Given the description of an element on the screen output the (x, y) to click on. 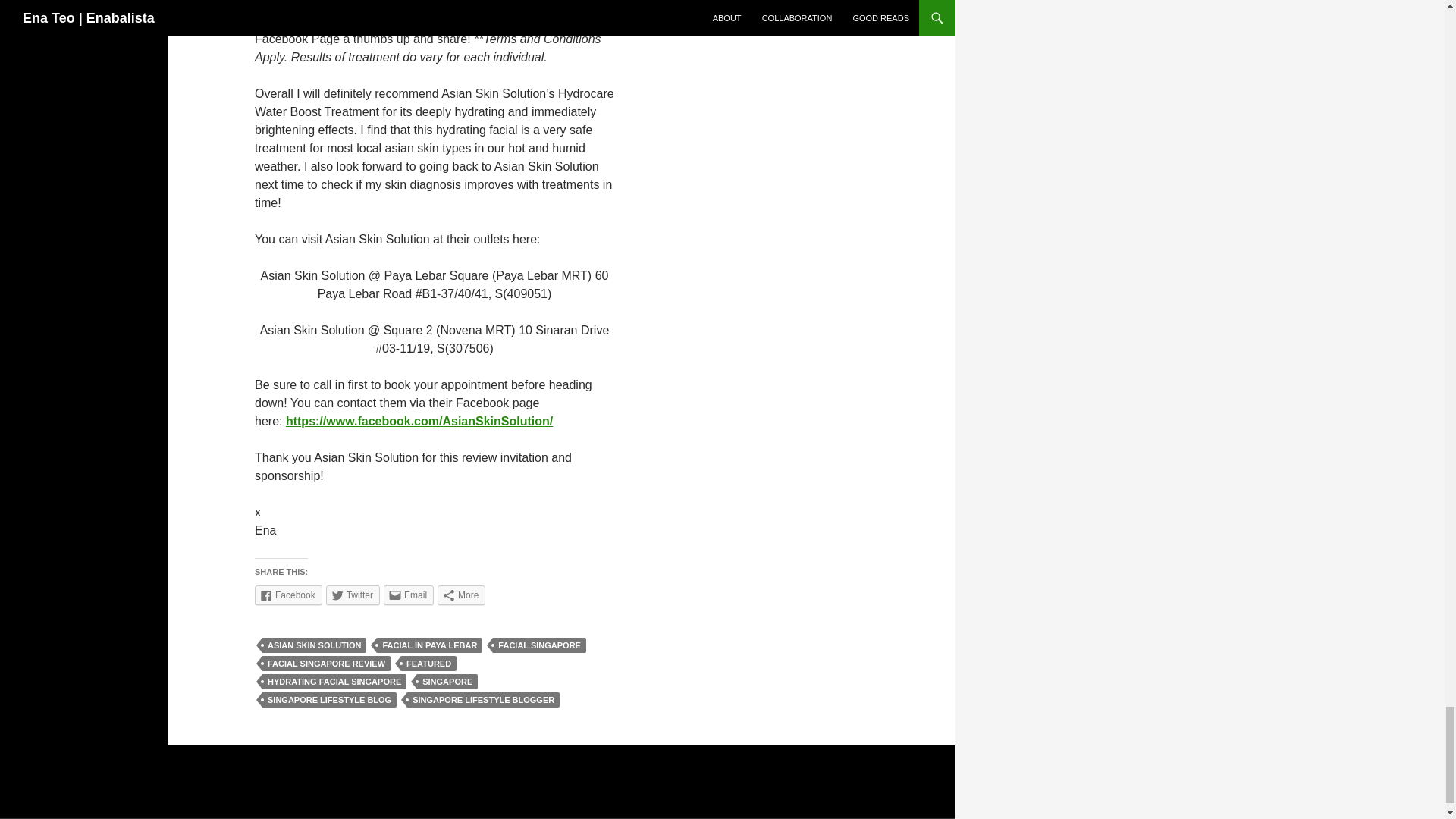
ASIAN SKIN SOLUTION (314, 645)
FACIAL SINGAPORE REVIEW (326, 663)
Click to email this to a friend (408, 595)
SINGAPORE LIFESTYLE BLOG (329, 699)
Click to share on Facebook (287, 595)
Click to share on Twitter (353, 595)
Twitter (353, 595)
SINGAPORE (446, 681)
Facebook (287, 595)
FACIAL SINGAPORE (539, 645)
